Given the description of an element on the screen output the (x, y) to click on. 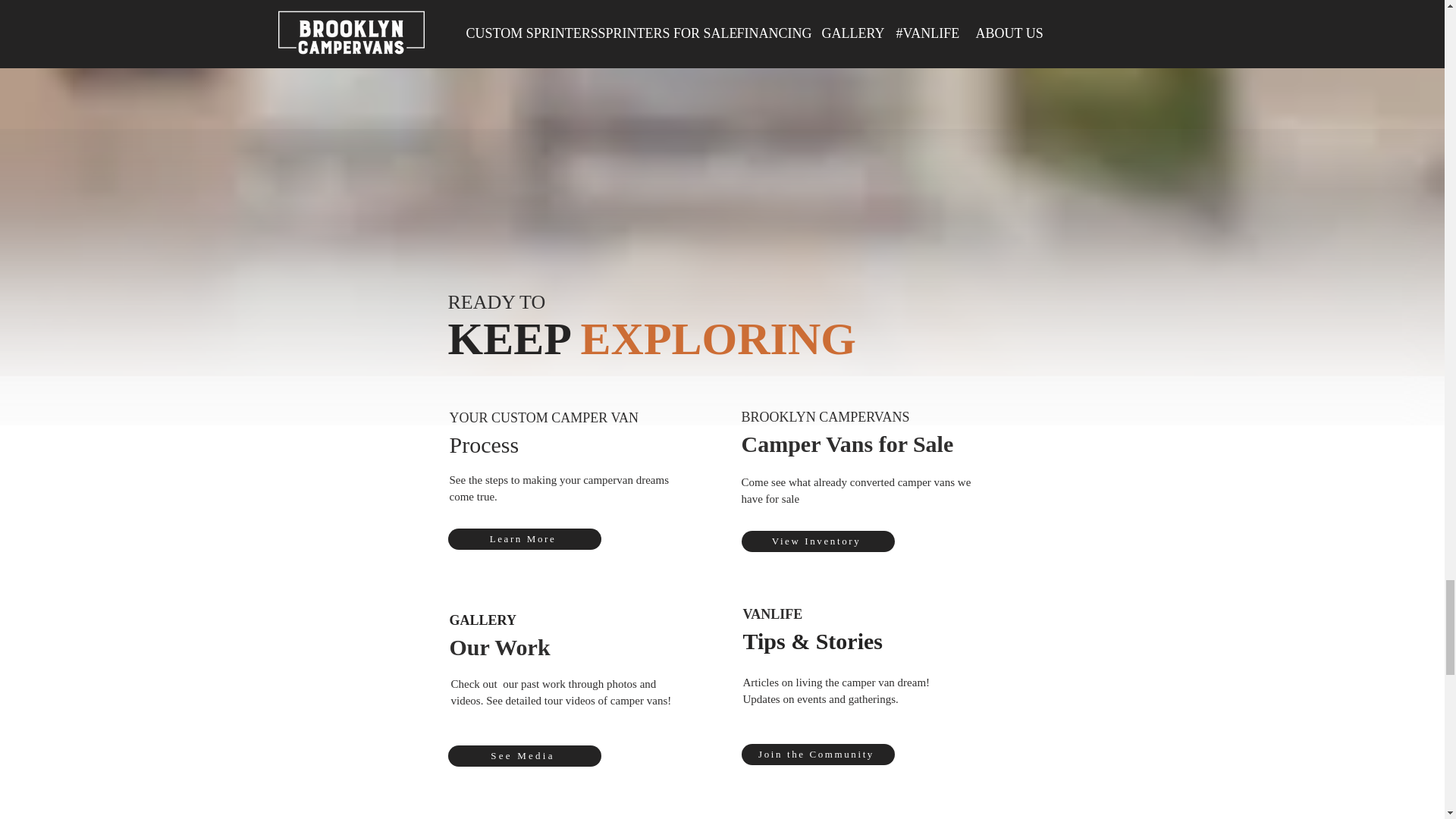
See Media (522, 755)
Learn More (522, 538)
View Inventory (818, 541)
